Given the description of an element on the screen output the (x, y) to click on. 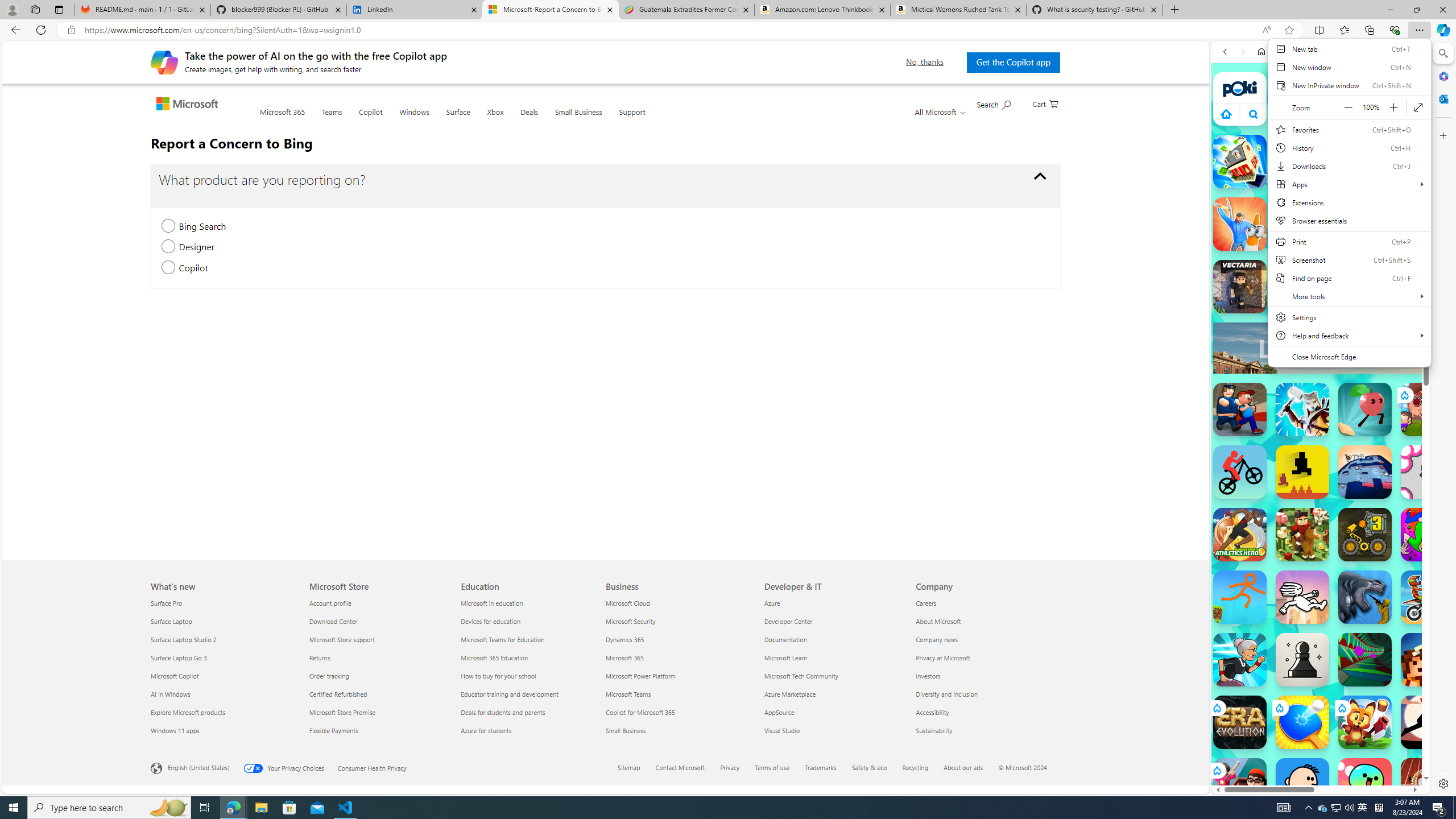
Combat Reloaded (1349, 580)
Flexible Payments (377, 730)
Two Player Games (1320, 323)
Microsoft Cloud Business (627, 602)
Diversity and inclusion (984, 693)
School Escape! (1239, 784)
Ping Pong Go! (1302, 722)
AppSource Developer & IT (779, 711)
Privacy at Microsoft (984, 657)
Bing Search, new section will be expanded (167, 226)
Fox Island Builder (1364, 722)
How to buy for your school Education (497, 675)
Surface (457, 118)
